Given the description of an element on the screen output the (x, y) to click on. 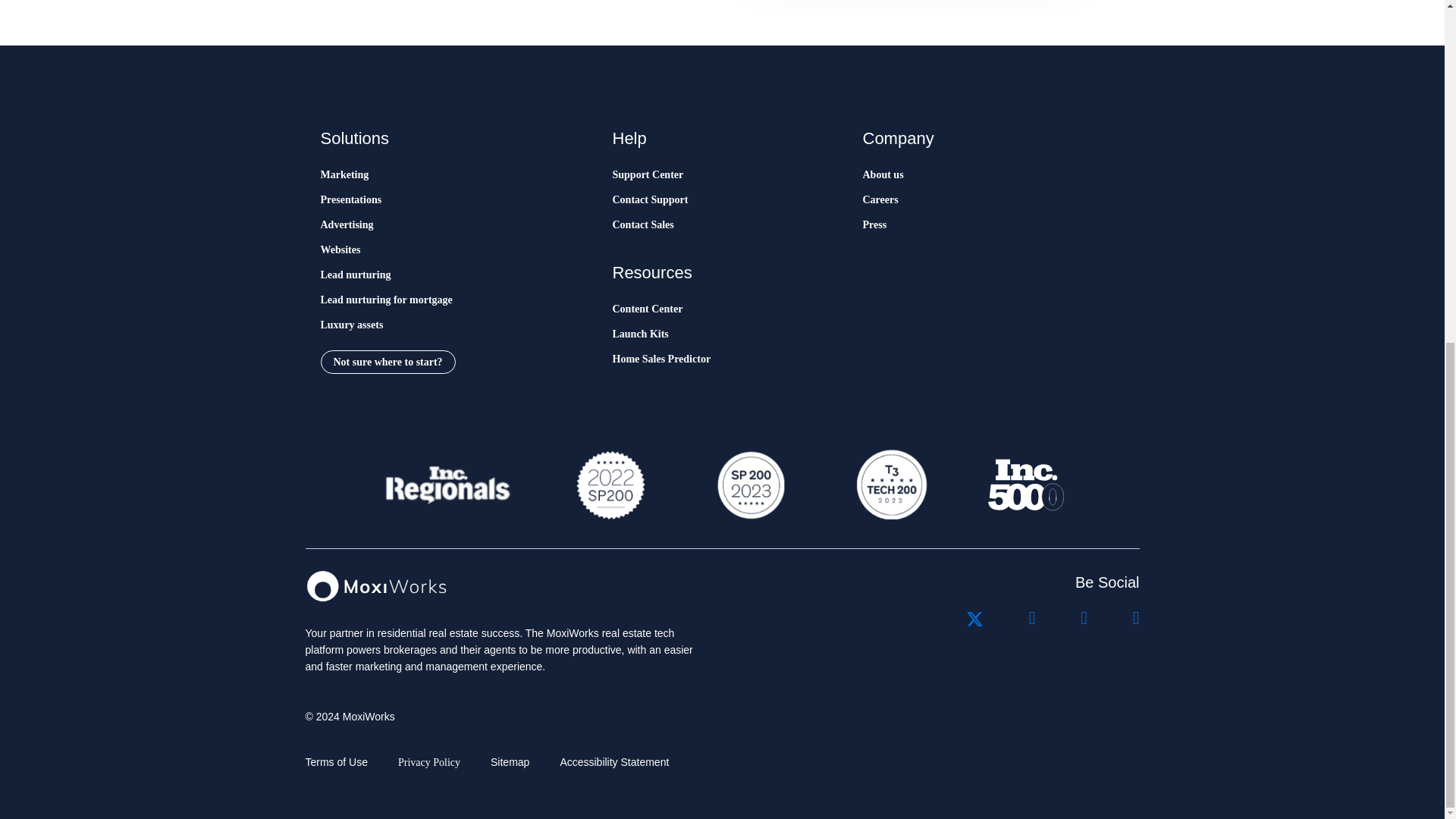
SP 2022 (610, 484)
SP 2023 (749, 484)
T3 tech 200 2023 (890, 484)
